Given the description of an element on the screen output the (x, y) to click on. 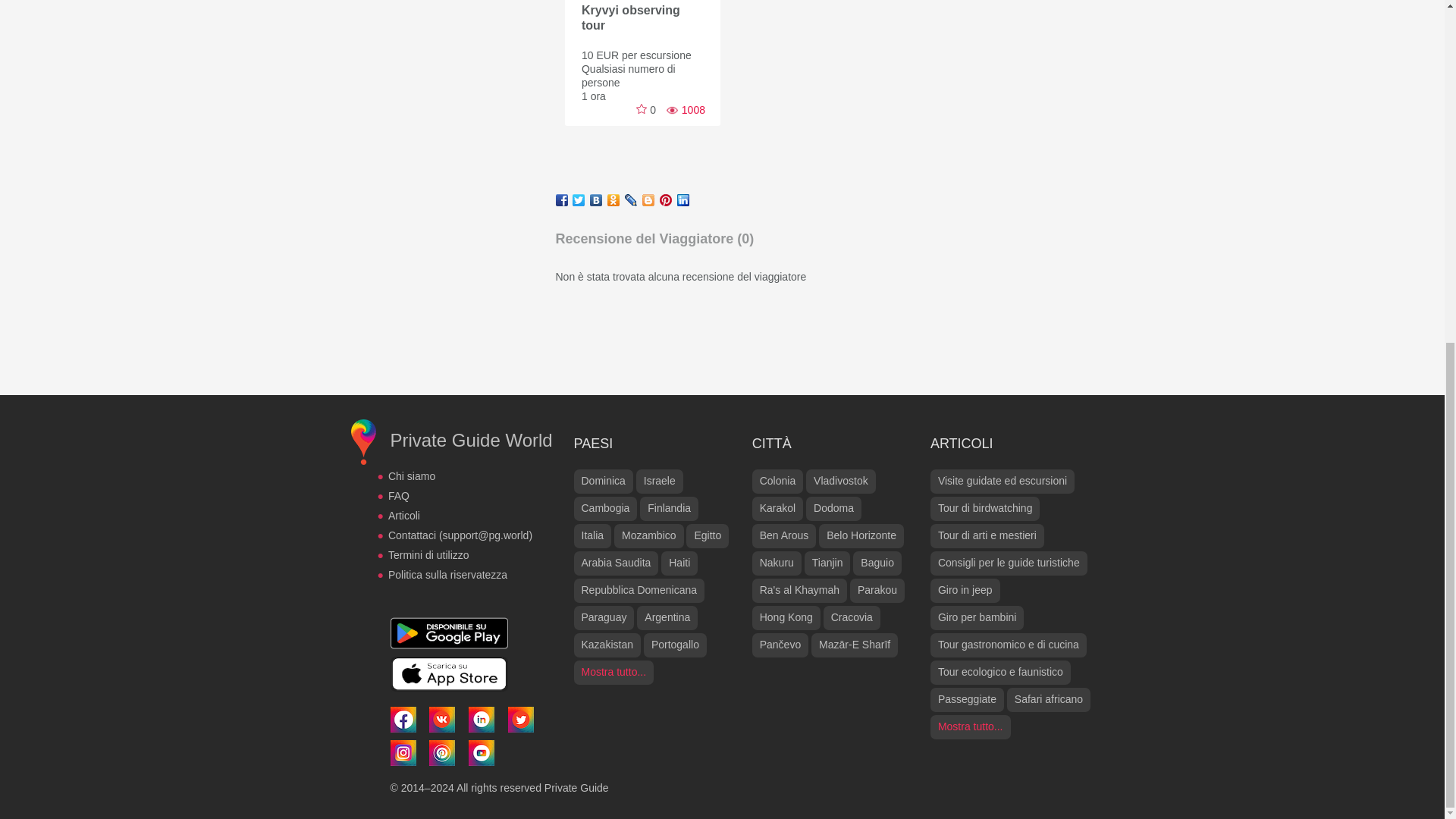
Private Guide World (470, 439)
Instagram (402, 751)
Facebook (402, 717)
Android application (448, 631)
Pinterest (441, 751)
Termini di utilizzo (428, 554)
Politica sulla riservatezza (447, 574)
iOS application (448, 673)
Vkontakte (441, 717)
Articoli (404, 515)
Chi siamo (411, 476)
Linkedin (481, 717)
YouTube (481, 751)
FAQ (398, 495)
